Given the description of an element on the screen output the (x, y) to click on. 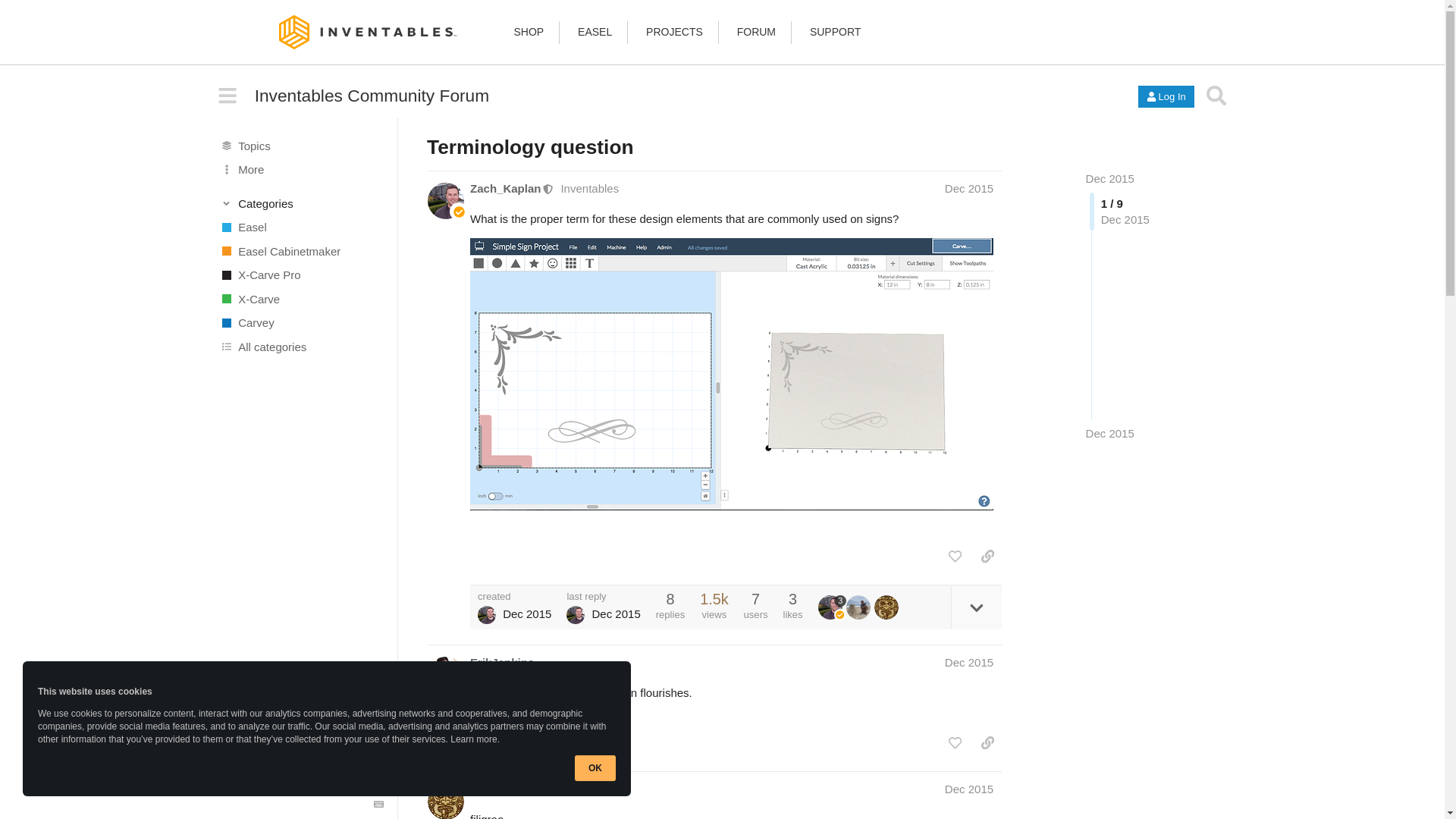
Keyboard Shortcuts (378, 805)
Discussion for anything related to Easel. (301, 227)
Discussions about the X-Carve Pro CNC machine. (301, 274)
More (301, 169)
Post date (968, 187)
Toggle section (301, 202)
Easel (301, 227)
PROJECTS (674, 31)
Easel Cabinetmaker (301, 250)
X-Carve Pro (301, 274)
Sidebar (227, 95)
EASEL (594, 31)
Learn more. (474, 738)
Dec 2015 (1110, 178)
